Given the description of an element on the screen output the (x, y) to click on. 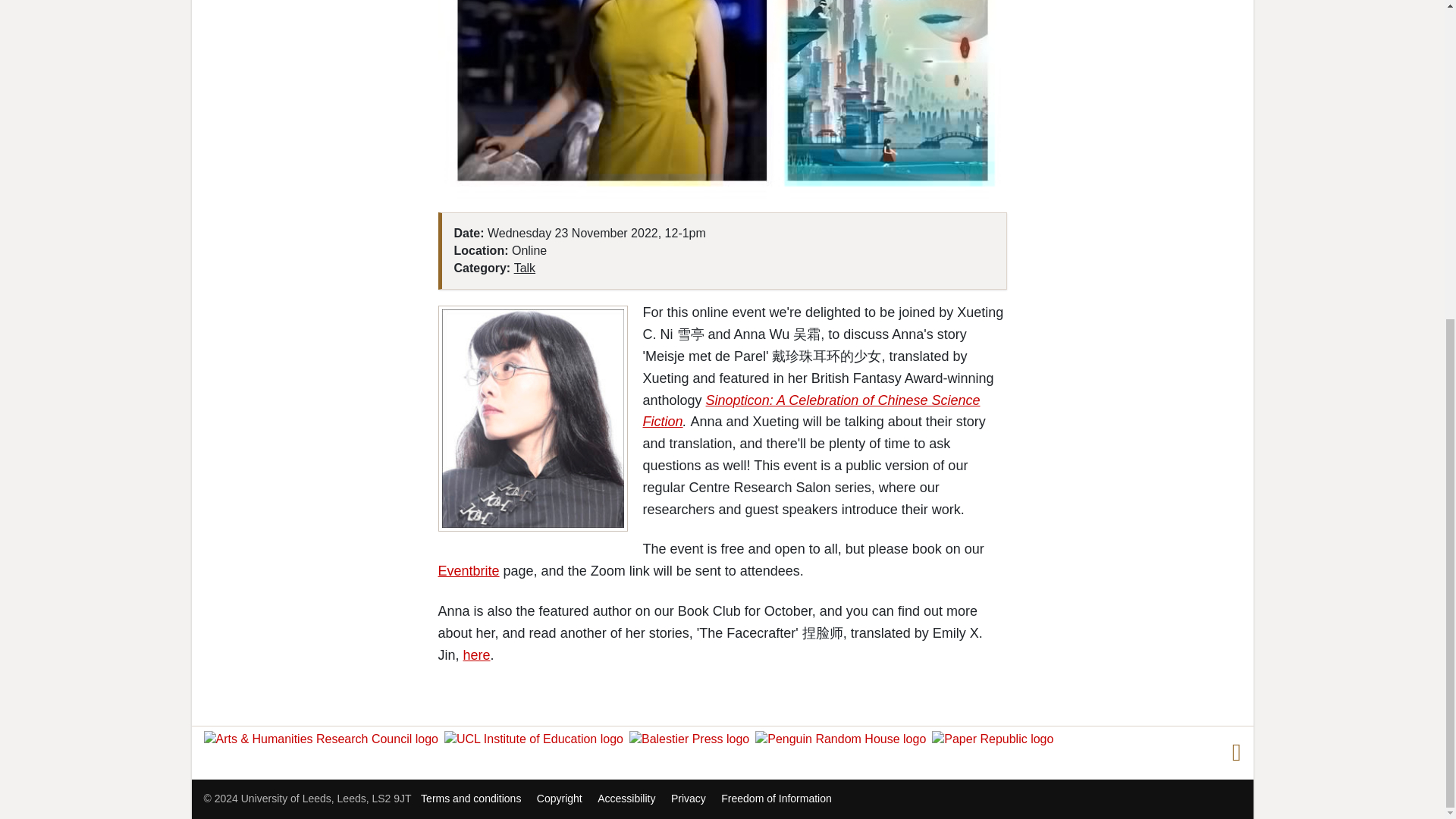
Penguin Random House (843, 738)
Balestier Press (691, 738)
UCL Institute of Education (536, 738)
Paper Republic (995, 738)
